Given the description of an element on the screen output the (x, y) to click on. 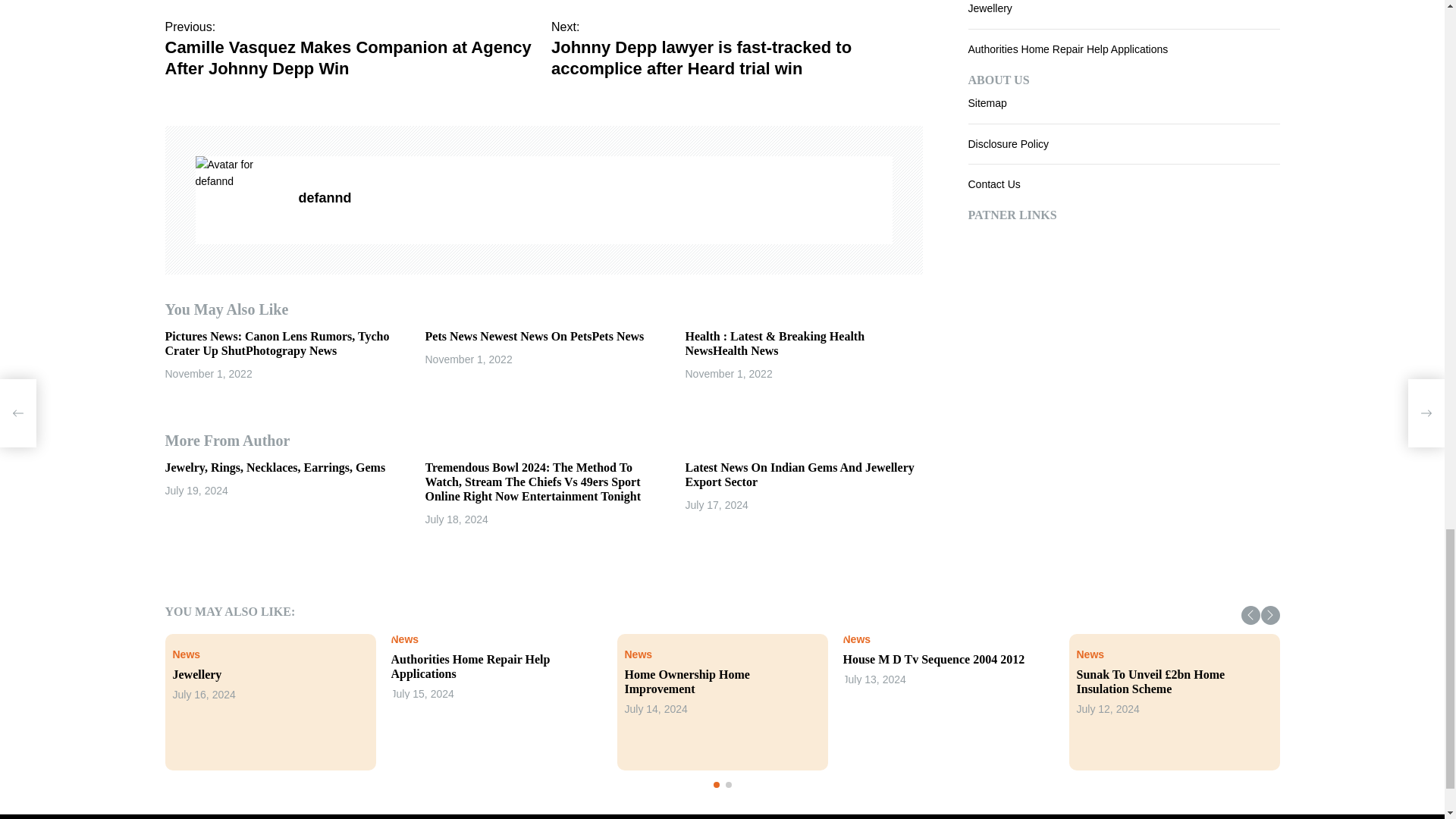
defannd (239, 173)
defannd (595, 198)
